Given the description of an element on the screen output the (x, y) to click on. 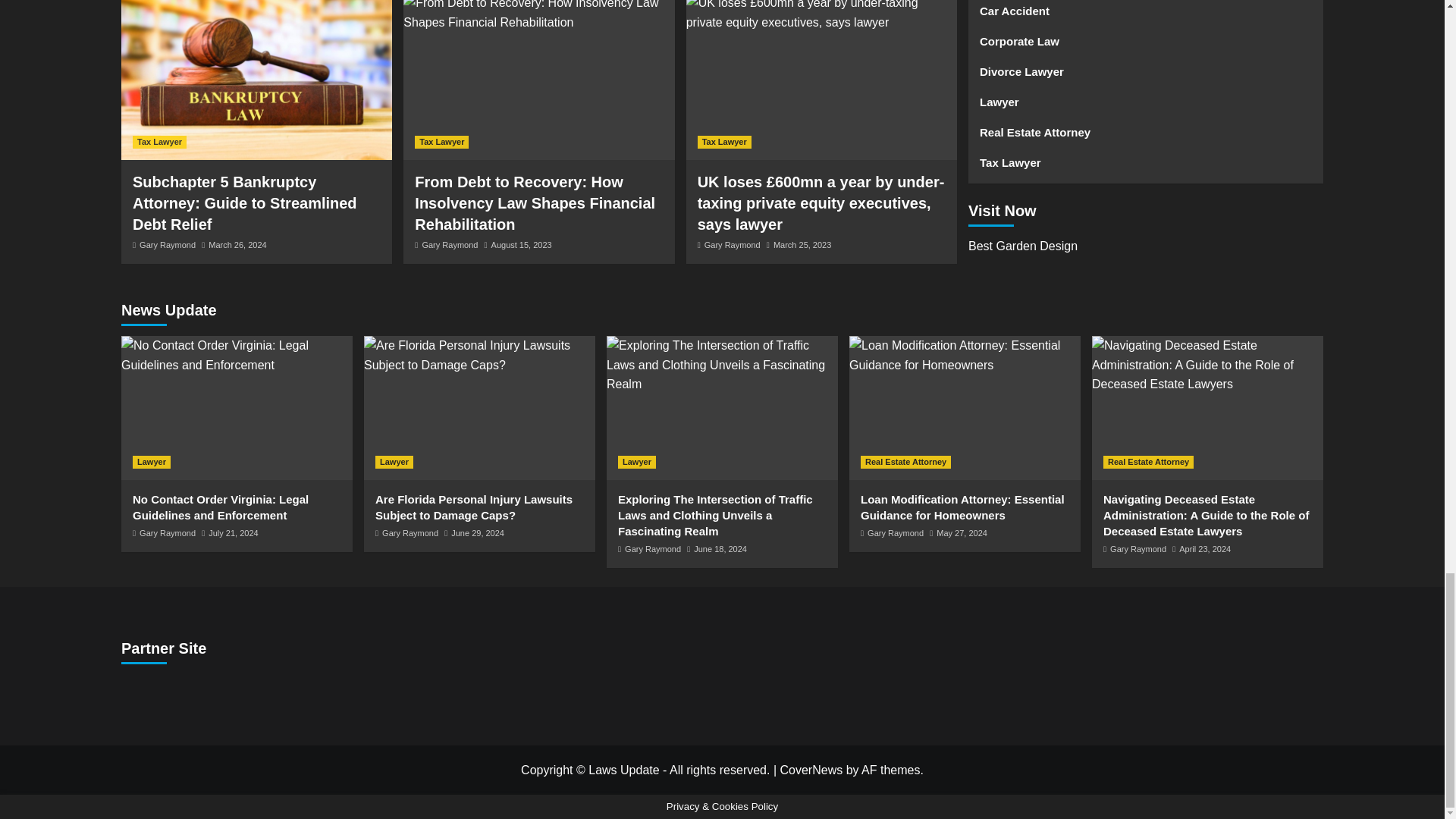
Tax Lawyer (441, 141)
Tax Lawyer (159, 141)
Are Florida Personal Injury Lawsuits Subject to Damage Caps? (479, 354)
No Contact Order Virginia: Legal Guidelines and Enforcement (236, 354)
Gary Raymond (449, 244)
March 26, 2024 (237, 244)
Gary Raymond (167, 244)
